Given the description of an element on the screen output the (x, y) to click on. 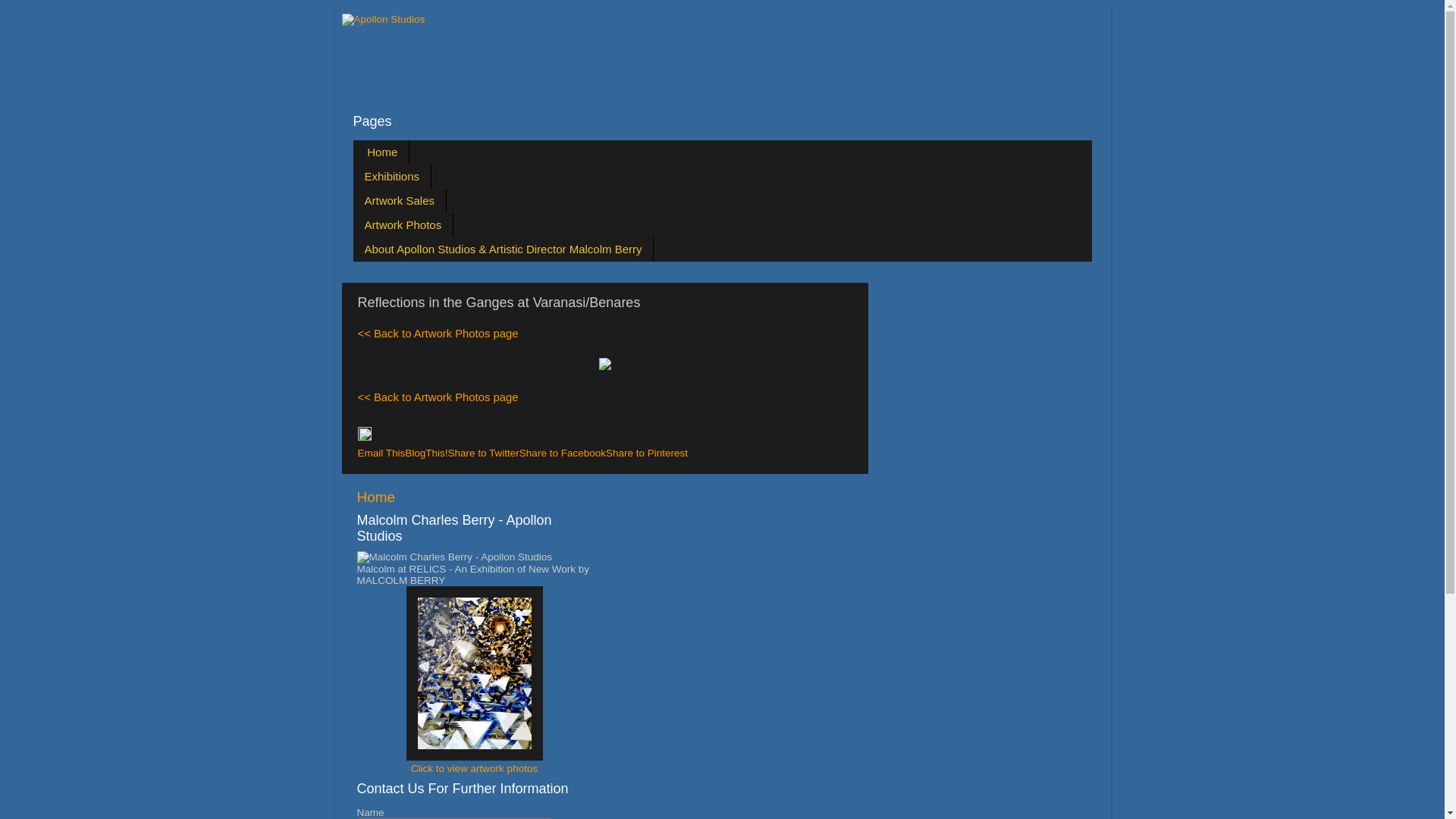
Exhibitions Element type: text (392, 175)
About Apollon Studios & Artistic Director Malcolm Berry Element type: text (503, 248)
Email This Element type: text (381, 452)
Artwork Sales Element type: text (400, 200)
<< Back to Artwork Photos page Element type: text (437, 333)
<< Back to Artwork Photos page Element type: text (437, 397)
Click to view artwork photos Element type: text (474, 768)
Share to Twitter Element type: text (483, 452)
Click here to view artwork photos Element type: hover (474, 756)
Edit page Element type: hover (364, 436)
BlogThis! Element type: text (425, 452)
Home Element type: text (381, 151)
Home Element type: text (375, 497)
Artwork Photos Element type: text (403, 224)
Share to Facebook Element type: text (562, 452)
Share to Pinterest Element type: text (646, 452)
